Given the description of an element on the screen output the (x, y) to click on. 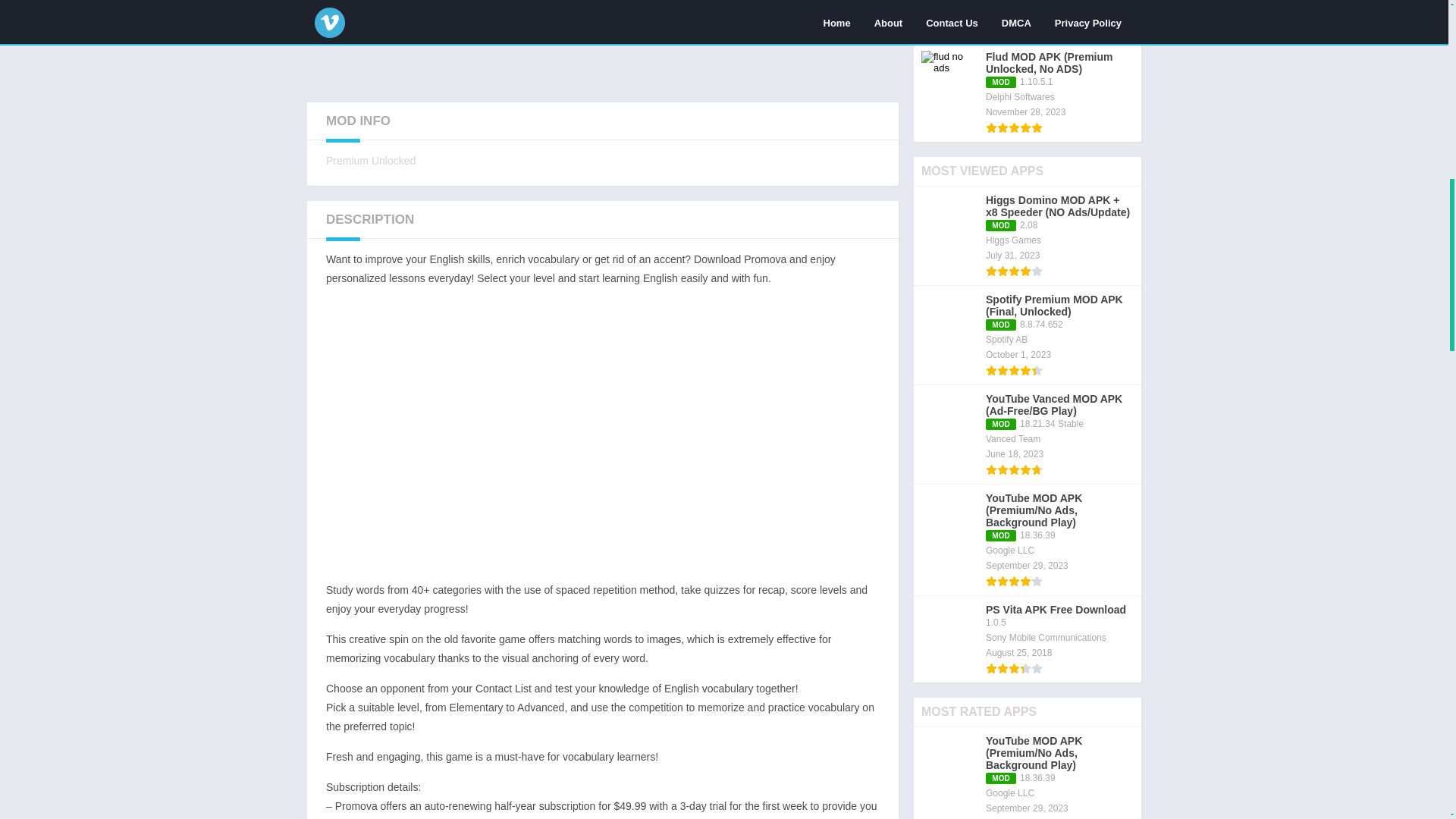
Advertisement (602, 43)
